Given the description of an element on the screen output the (x, y) to click on. 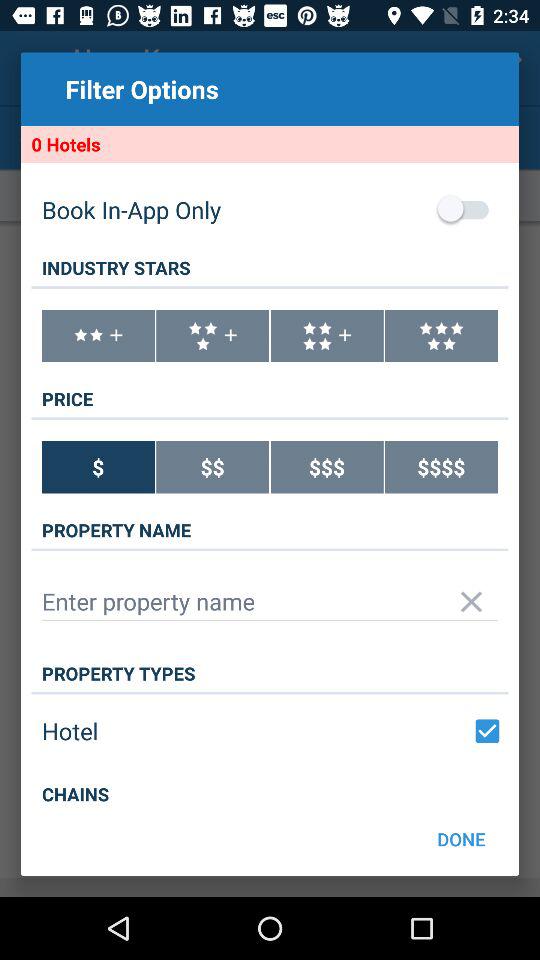
check hotels (487, 731)
